Given the description of an element on the screen output the (x, y) to click on. 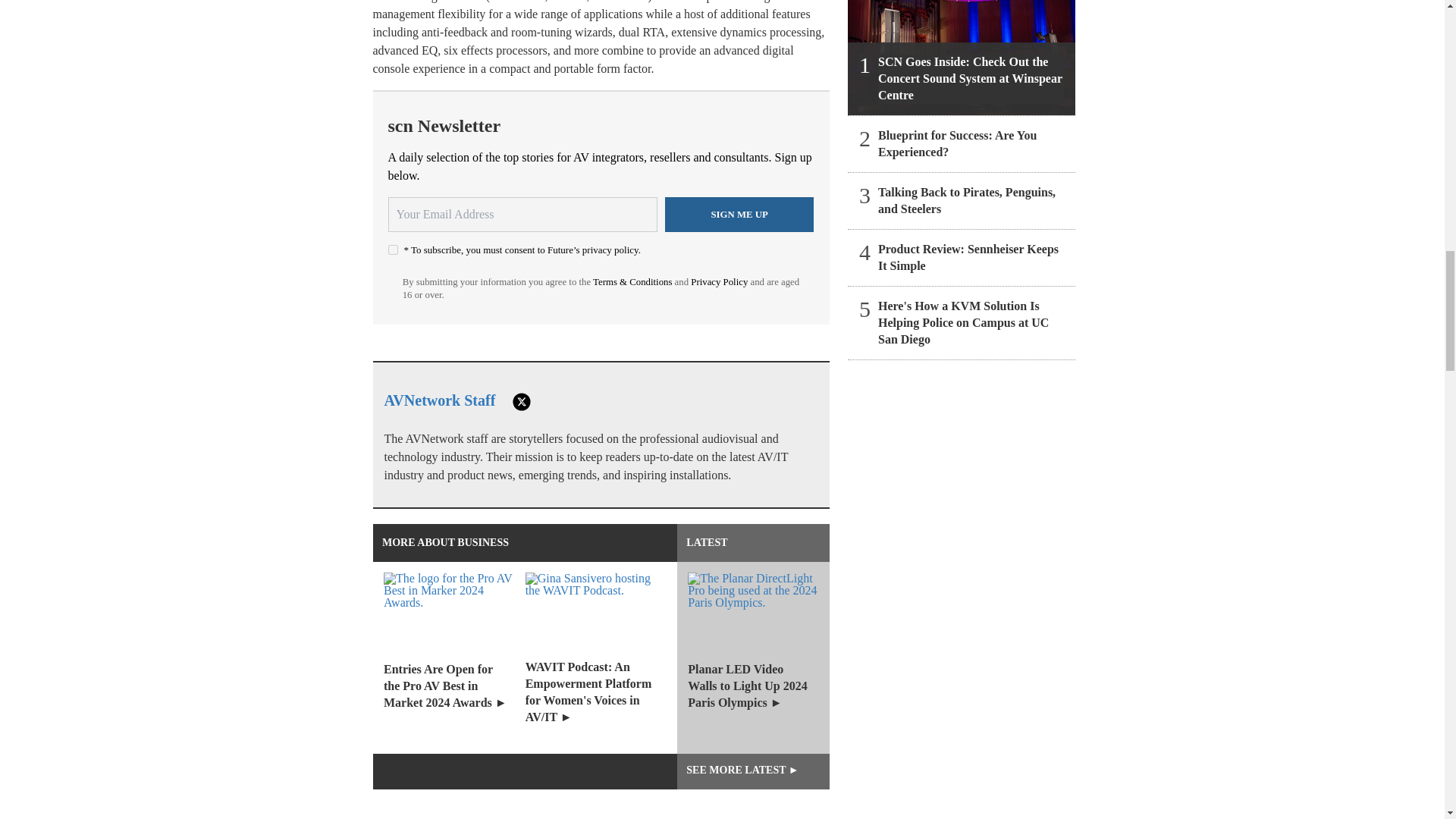
Sign me up (739, 214)
AVNetwork Staff (439, 400)
Sign me up (739, 214)
Privacy Policy (719, 281)
on (392, 249)
